Given the description of an element on the screen output the (x, y) to click on. 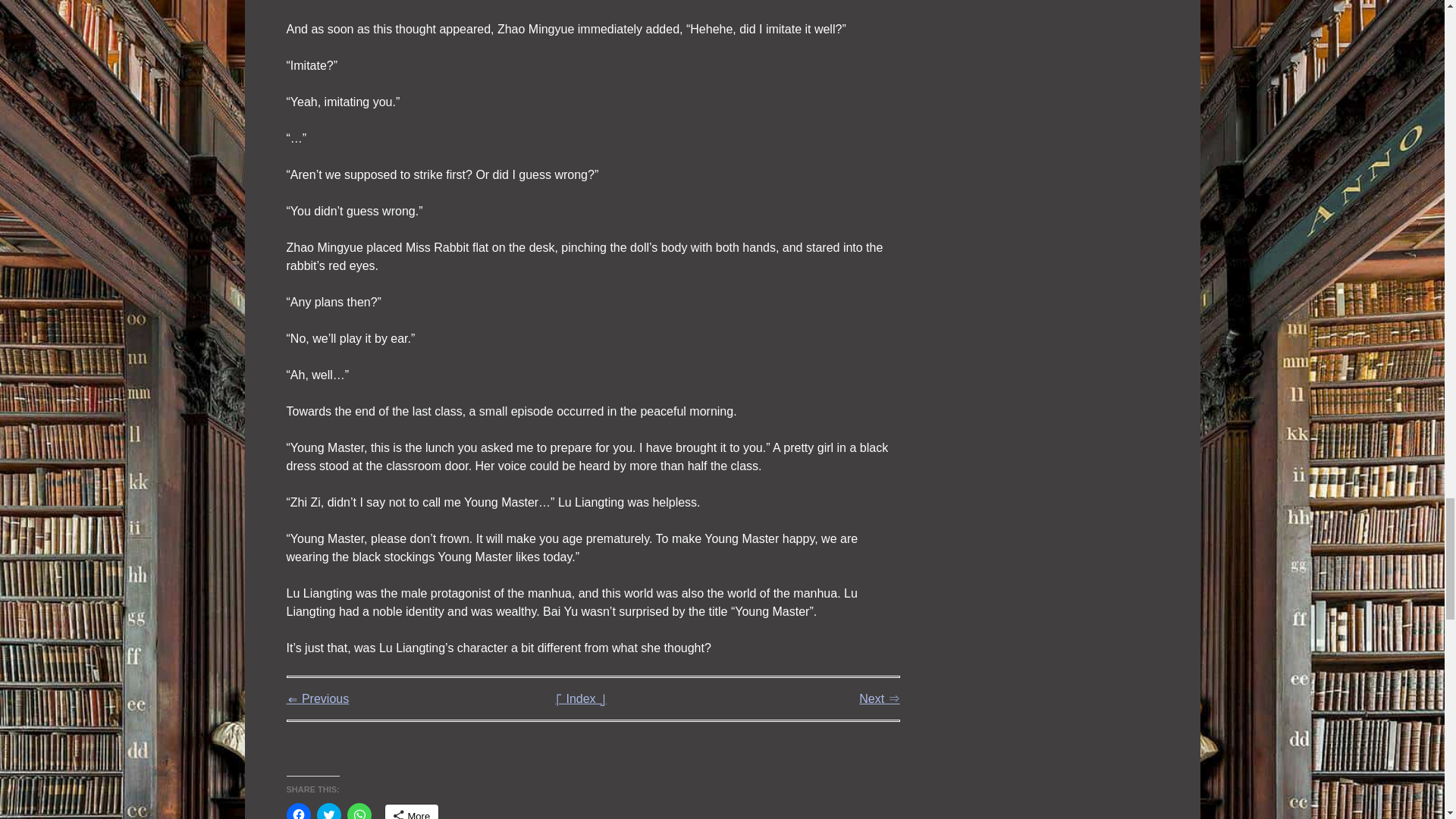
Click to share on WhatsApp (359, 811)
Click to share on Facebook (298, 811)
Chapter 33 - What Normal Person Would Like a Female Ghost (317, 698)
Click to share on Twitter (328, 811)
Chapter 35 - Feelings and Ambush (879, 698)
